Given the description of an element on the screen output the (x, y) to click on. 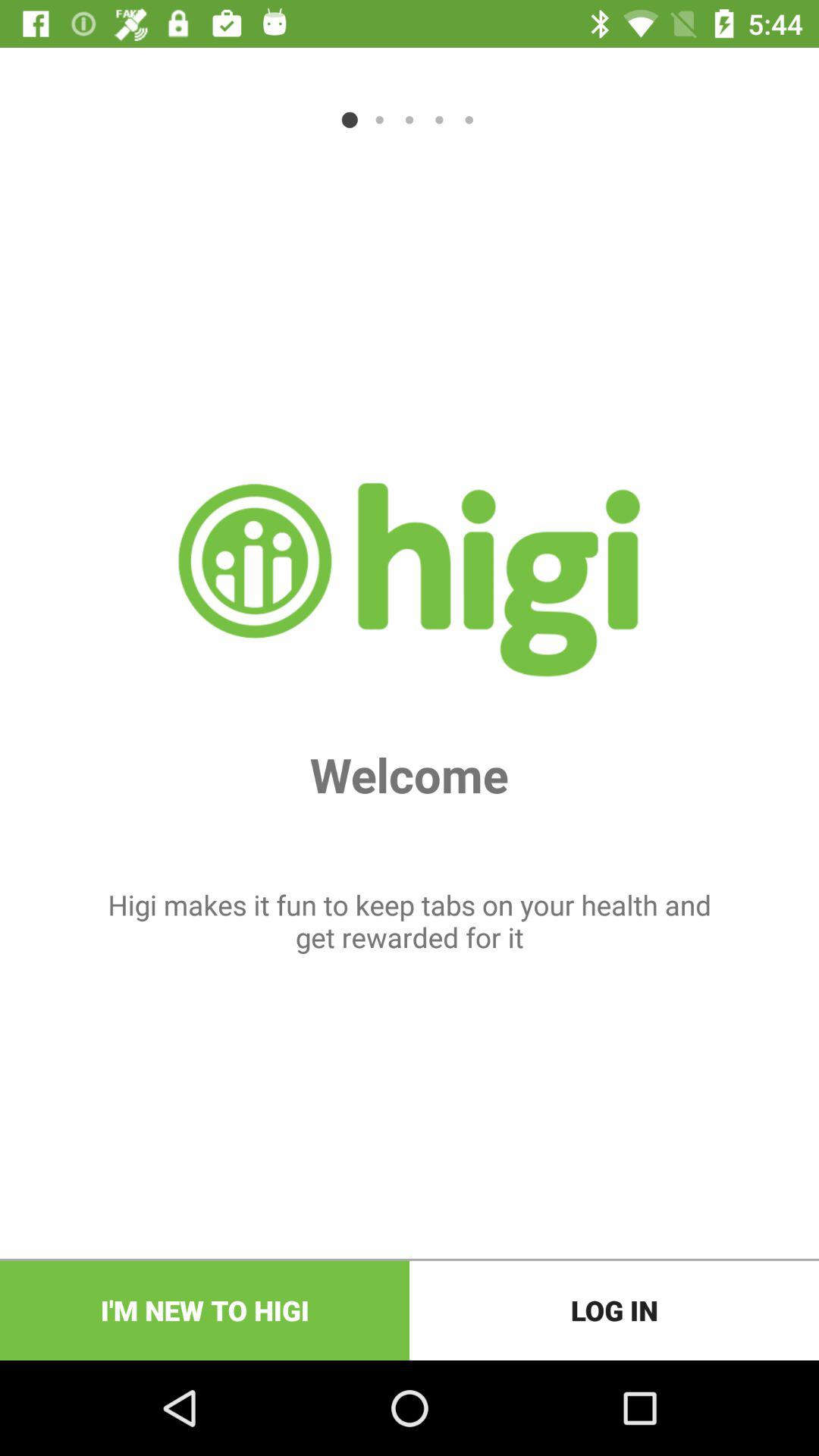
turn on icon next to the i m new item (614, 1310)
